Given the description of an element on the screen output the (x, y) to click on. 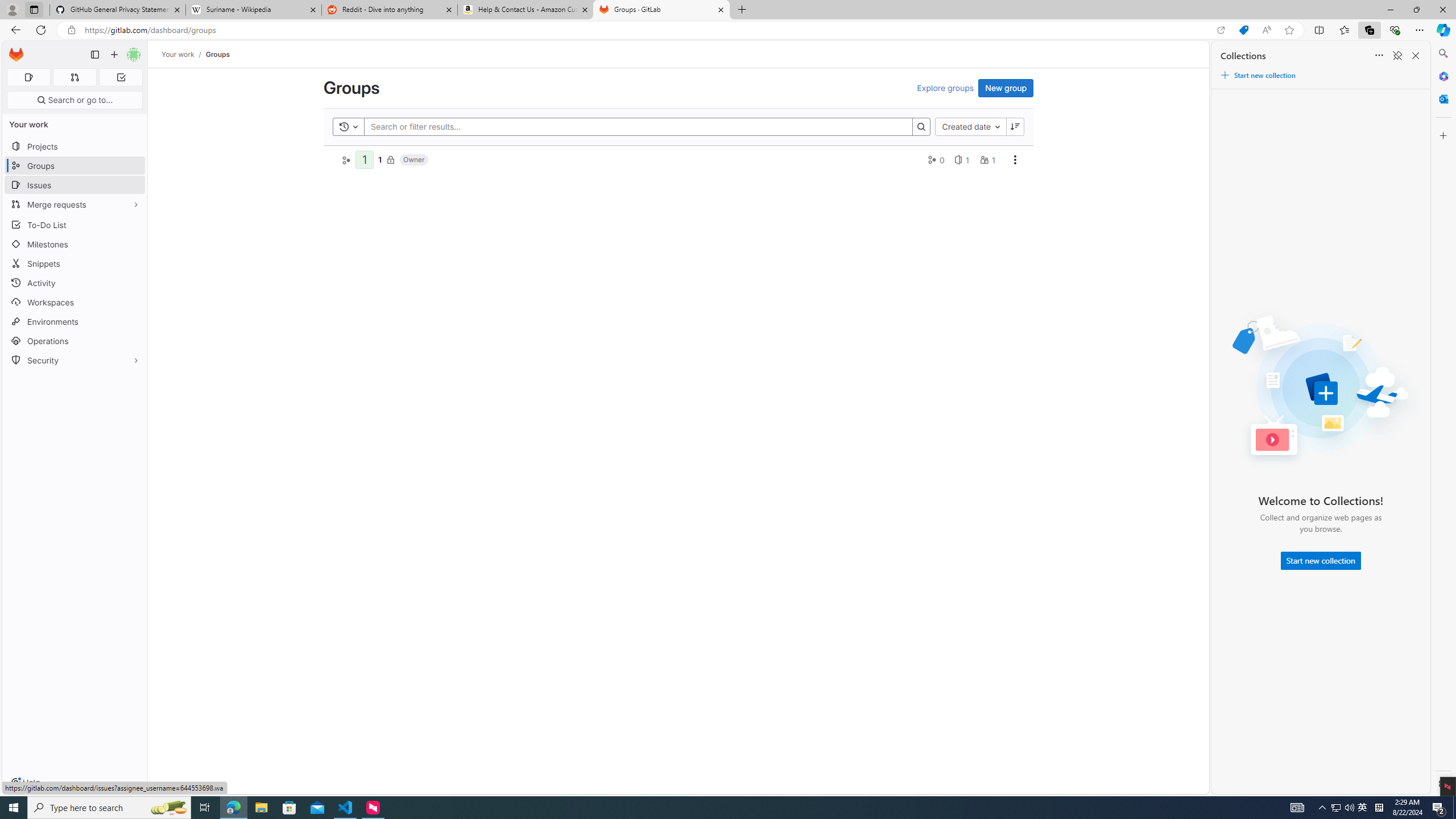
Toggle history (348, 126)
Milestones (74, 244)
Operations (74, 340)
Sort (1379, 55)
Issues (74, 185)
